Given the description of an element on the screen output the (x, y) to click on. 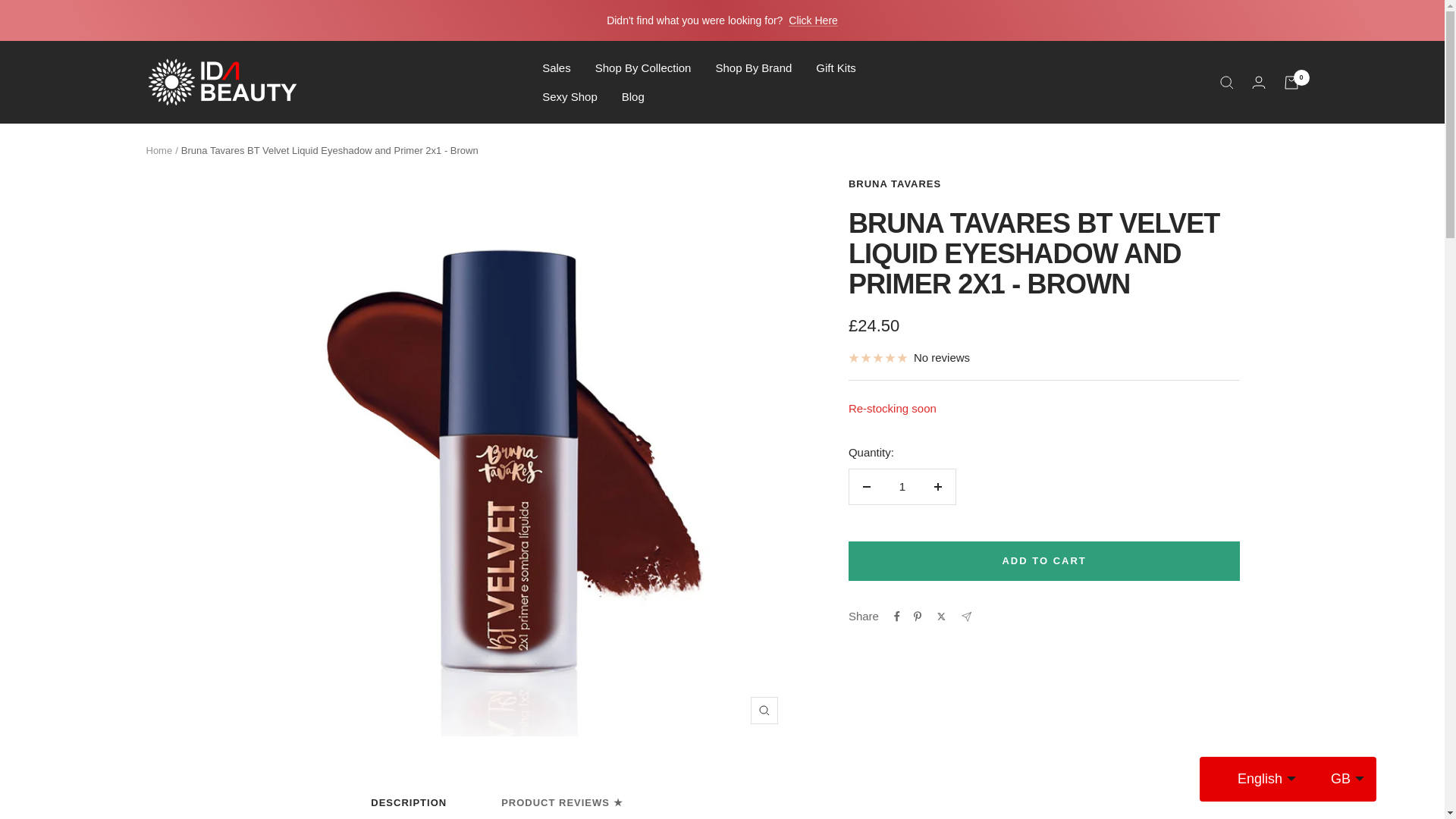
Shop By Collection (643, 67)
Click Here (813, 20)
ADD TO CART (1044, 560)
BRUNA TAVARES (894, 183)
Decrease quantity (865, 486)
IDA Beauty UK (221, 81)
Gift Kits (835, 67)
Home (158, 150)
0 (1291, 82)
Zoom (764, 709)
